Given the description of an element on the screen output the (x, y) to click on. 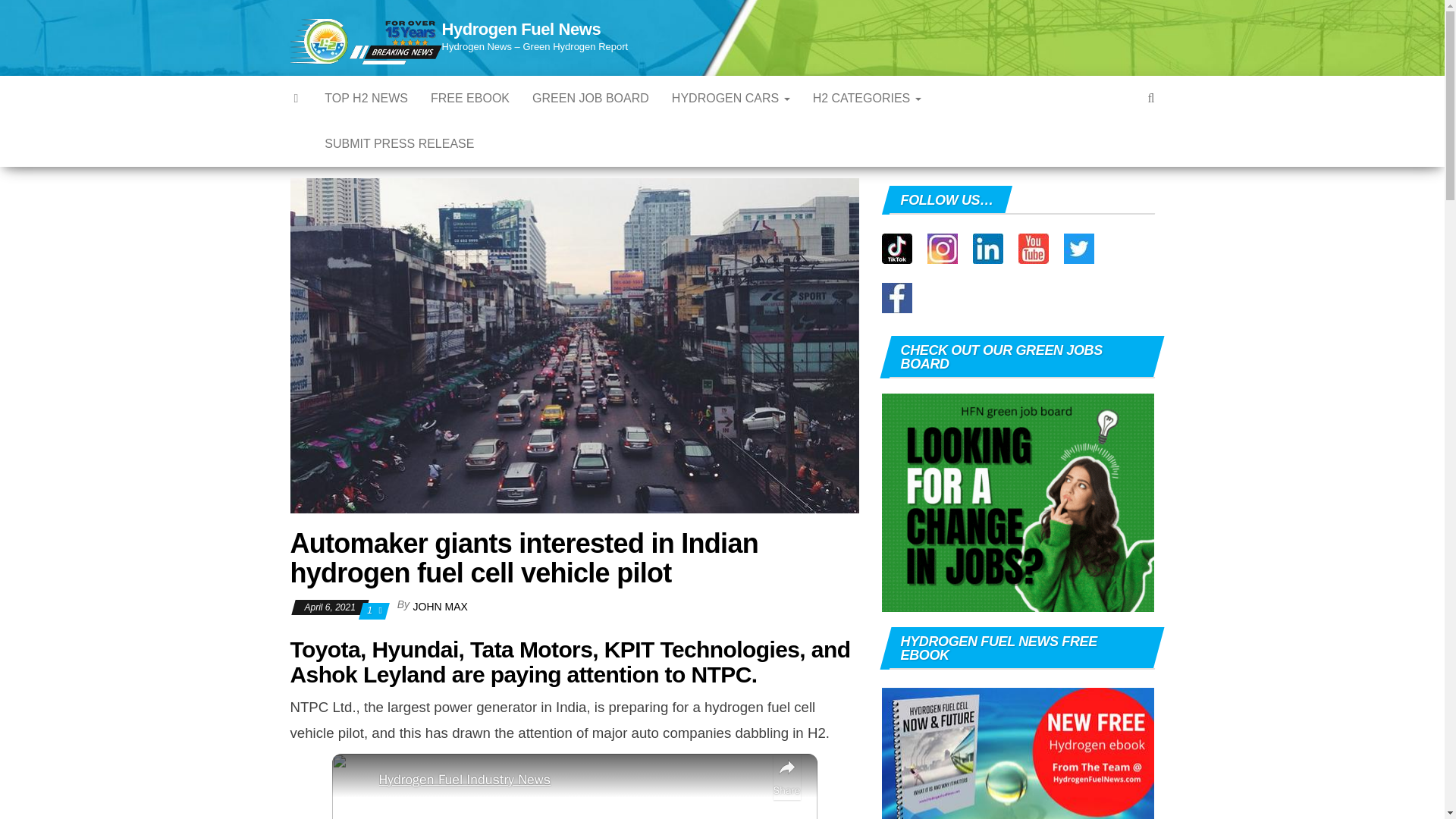
Free ebook (470, 98)
Green Job Board (591, 98)
HYDROGEN CARS (731, 98)
Top H2 News (366, 98)
FREE EBOOK (470, 98)
Hydrogen Fuel News (520, 28)
Hydrogen Cars (731, 98)
TOP H2 NEWS (366, 98)
GREEN JOB BOARD (591, 98)
H2 CATEGORIES (867, 98)
